Given the description of an element on the screen output the (x, y) to click on. 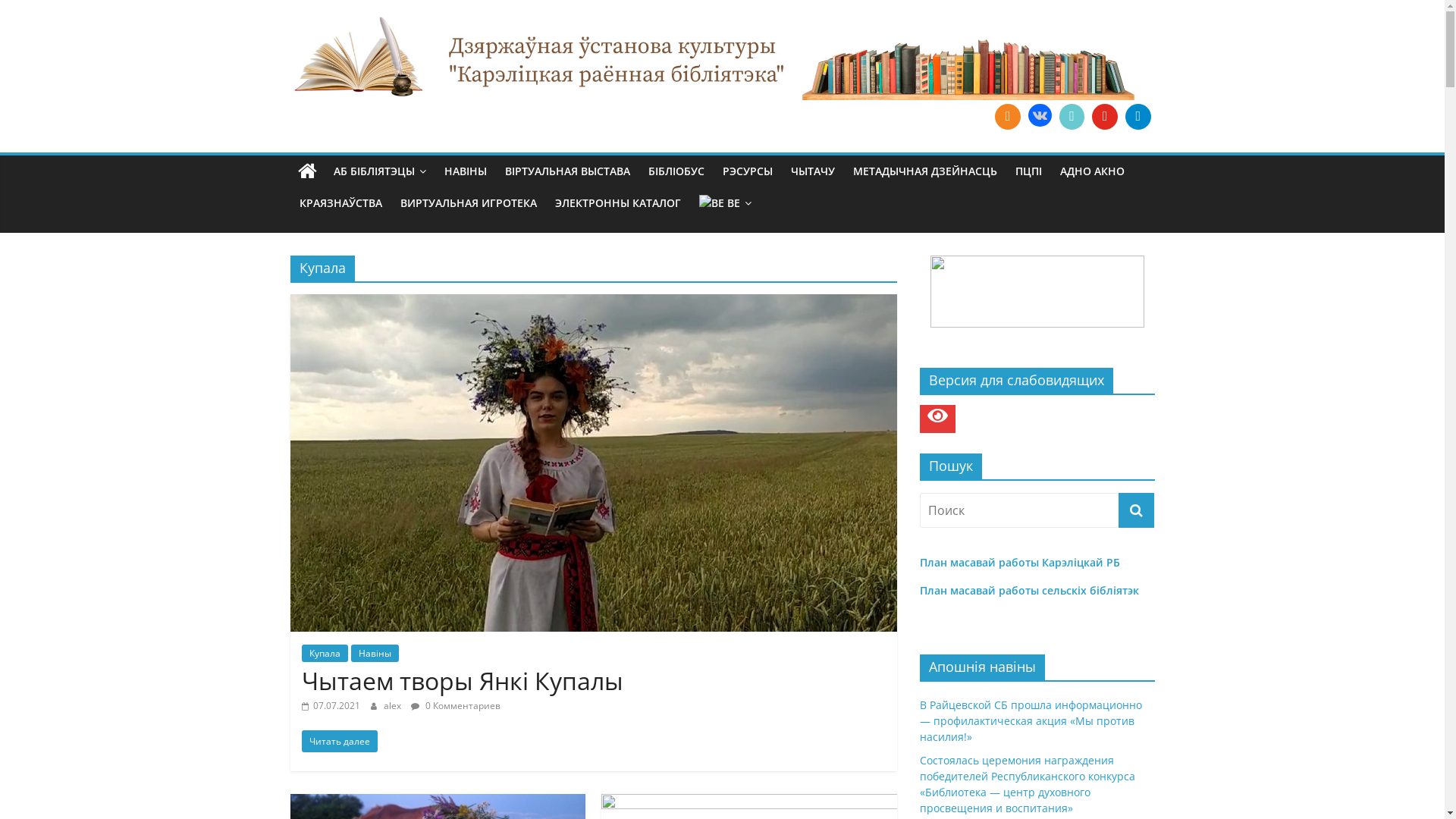
alex Element type: text (393, 705)
Youtube Element type: hover (1104, 116)
Odnoklassniki Element type: hover (1007, 116)
Telegram Element type: hover (1137, 116)
07.07.2021 Element type: text (330, 705)
BE Element type: text (725, 209)
Vk Element type: hover (1039, 116)
Tiktok Element type: hover (1071, 116)
